Given the description of an element on the screen output the (x, y) to click on. 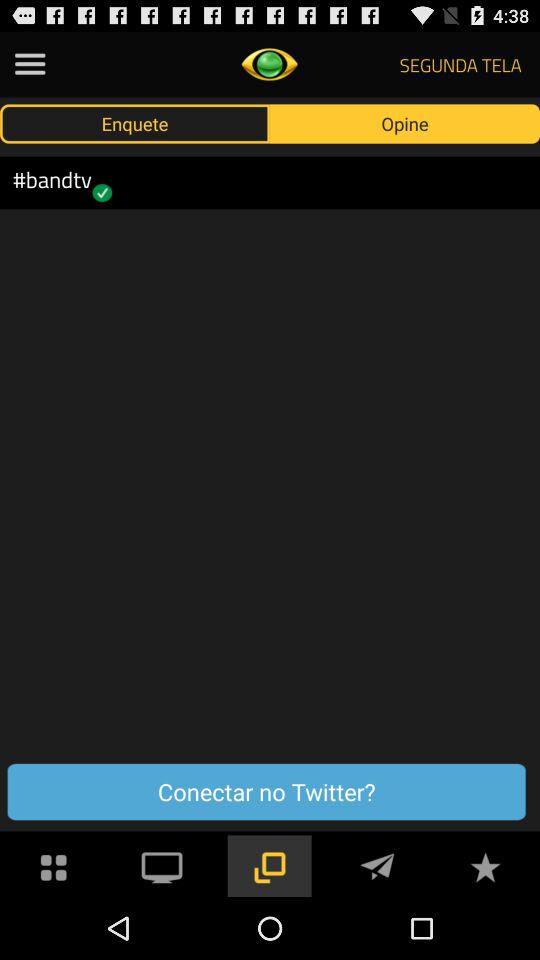
swith to main phone menu (54, 865)
